Given the description of an element on the screen output the (x, y) to click on. 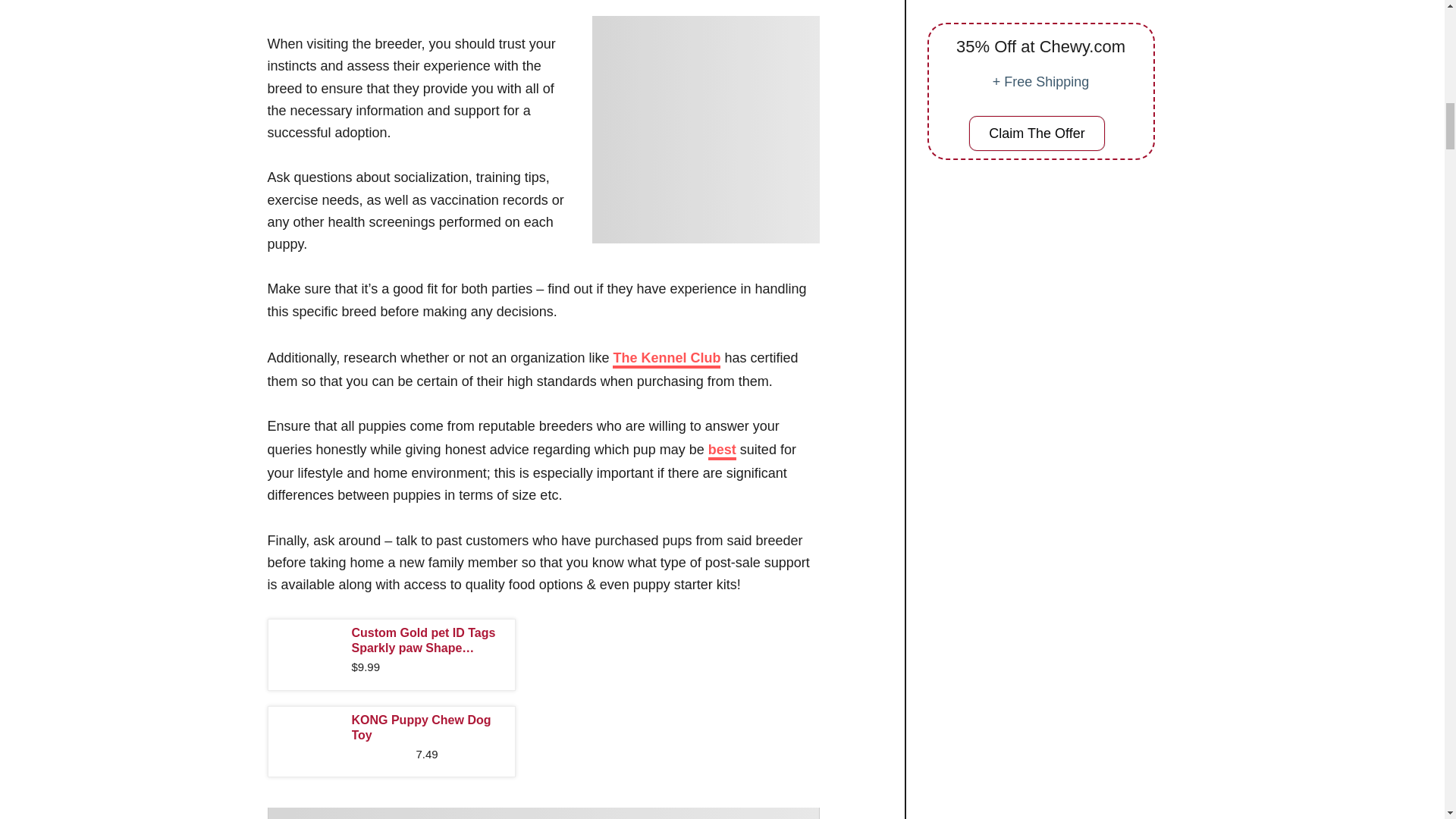
best (721, 451)
